Given the description of an element on the screen output the (x, y) to click on. 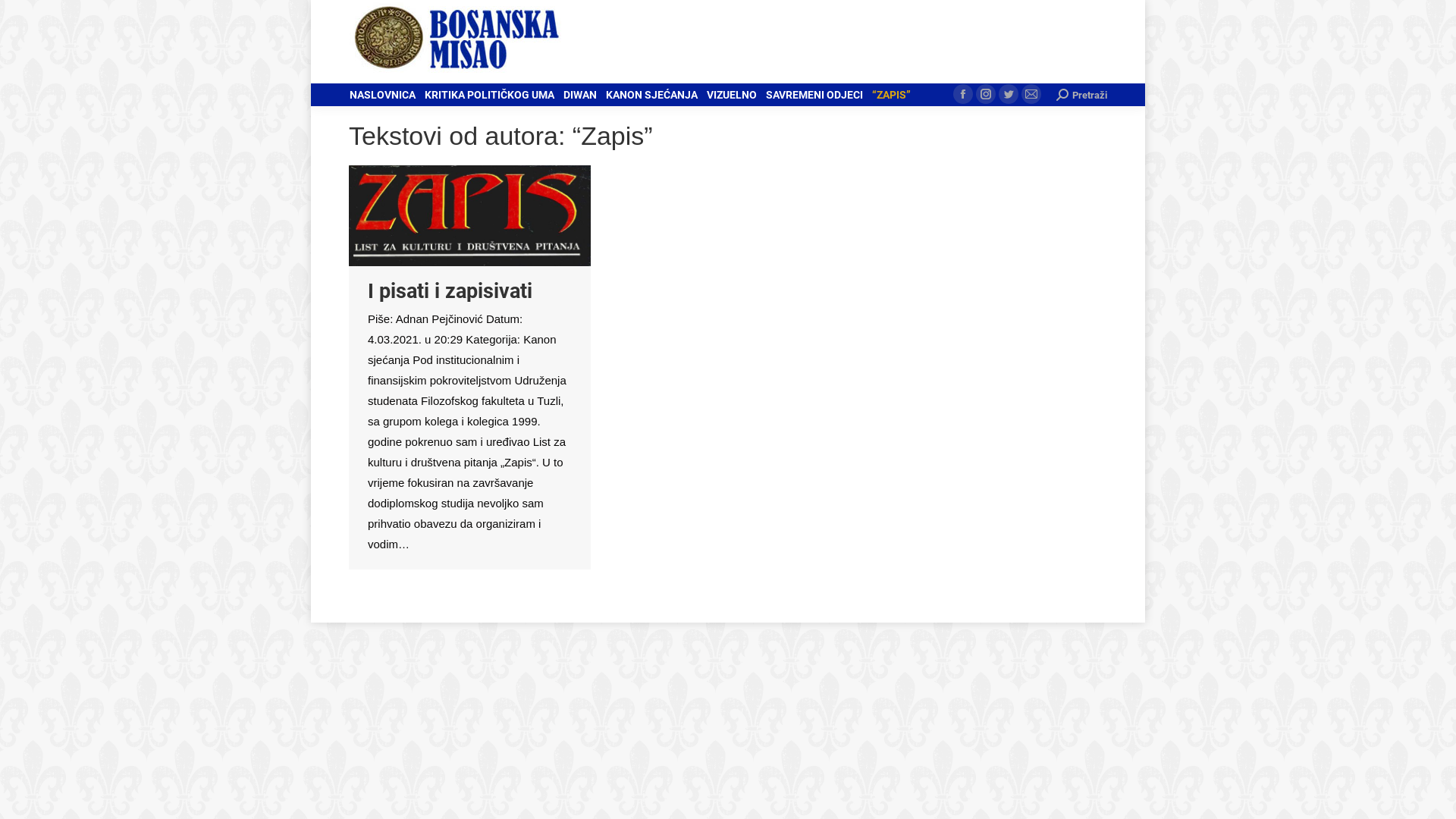
Zapis logo Element type: hover (469, 215)
Mail page opens in new window Element type: text (1031, 93)
I pisati i zapisivati Element type: text (449, 291)
Facebook page opens in new window Element type: text (962, 93)
Twitter page opens in new window Element type: text (1008, 93)
VIZUELNO Element type: text (731, 94)
SAVREMENI ODJECI Element type: text (814, 94)
NASLOVNICA Element type: text (382, 94)
Instagram page opens in new window Element type: text (985, 93)
Go! Element type: text (23, 16)
DIWAN Element type: text (579, 94)
